Given the description of an element on the screen output the (x, y) to click on. 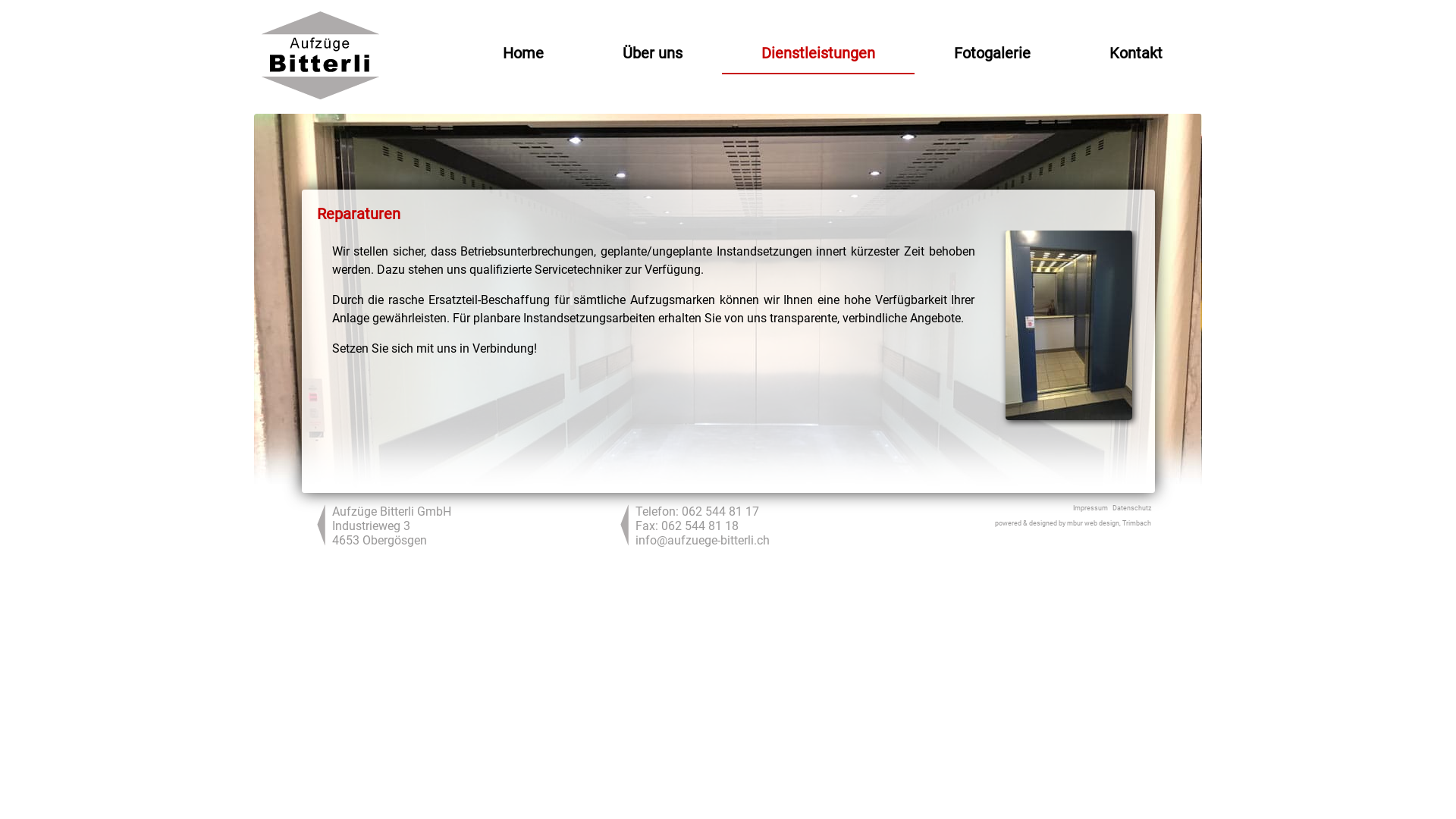
powered & designed by mbur web design, Trimbach Element type: text (1072, 523)
Fotogalerie Element type: text (992, 55)
Impressum Element type: text (1089, 507)
Home Element type: text (523, 55)
info@aufzuege-bitterli.ch Element type: text (702, 540)
Kontakt Element type: text (1135, 55)
Datenschutz Element type: text (1130, 507)
Dienstleistungen Element type: text (817, 55)
